Given the description of an element on the screen output the (x, y) to click on. 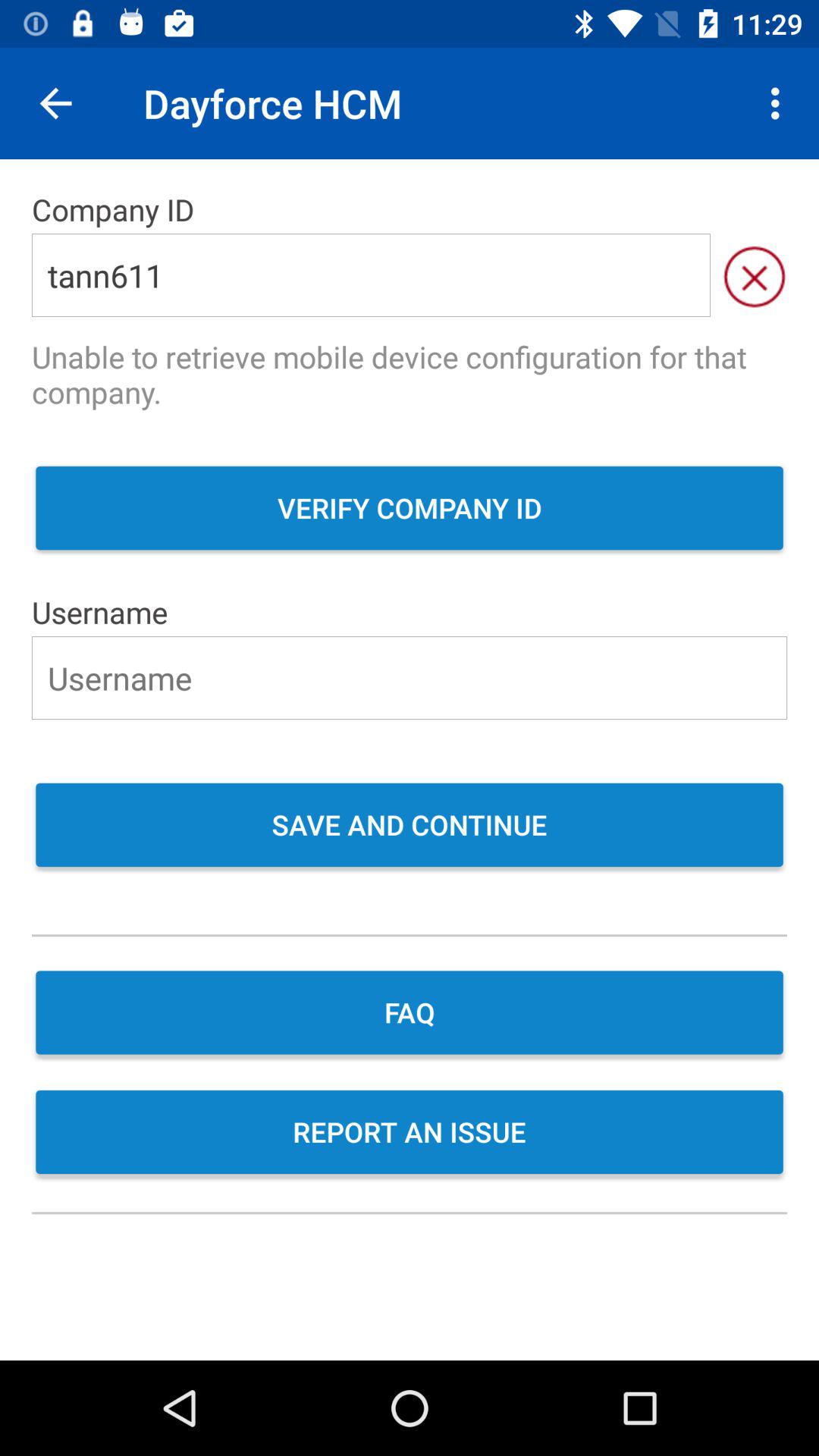
flip until faq icon (409, 1014)
